Given the description of an element on the screen output the (x, y) to click on. 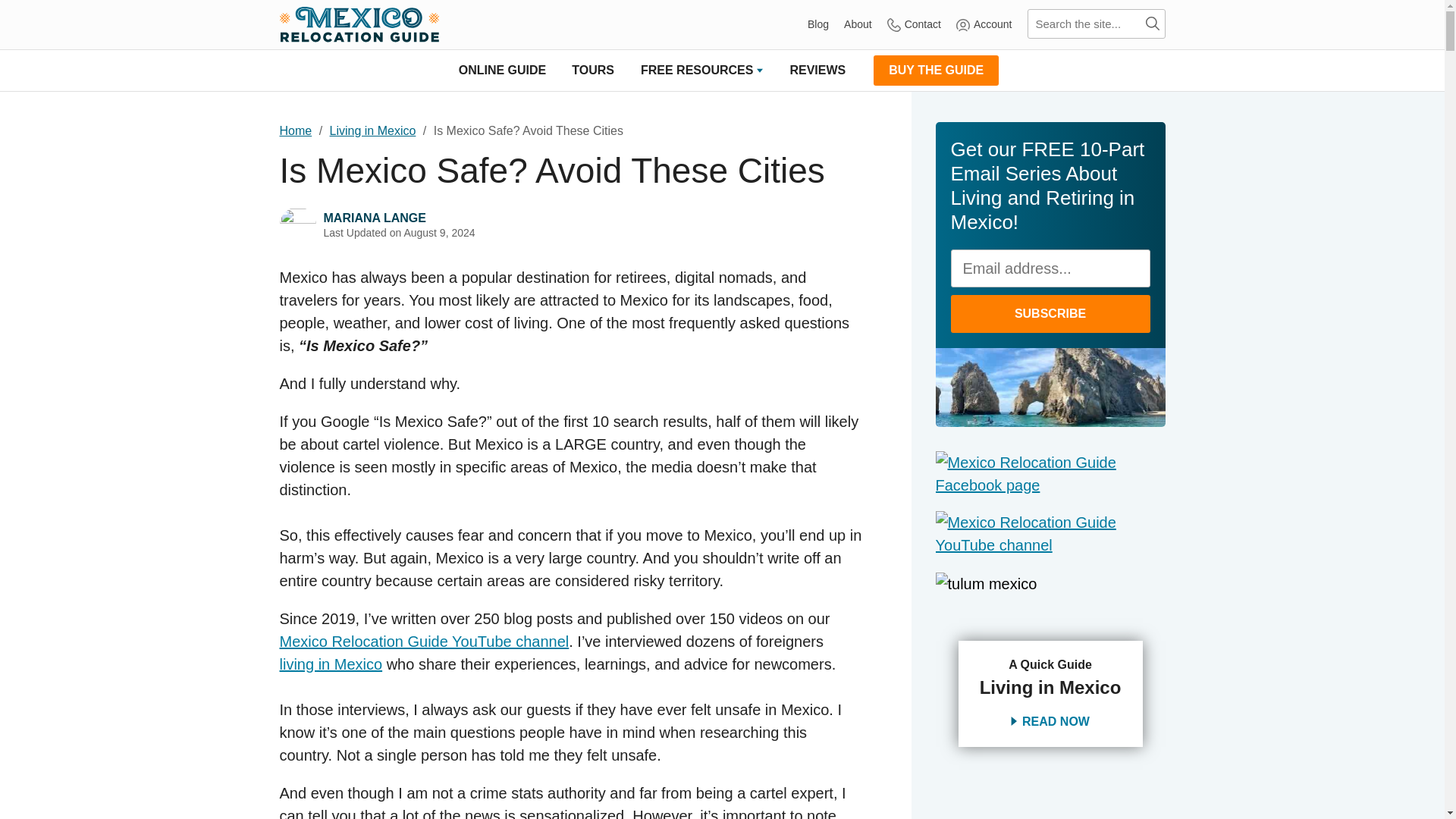
Contact (913, 24)
Account (983, 24)
ONLINE GUIDE (502, 69)
TOURS (593, 69)
About (858, 24)
FREE RESOURCES (701, 69)
Subscribe (1050, 313)
